Given the description of an element on the screen output the (x, y) to click on. 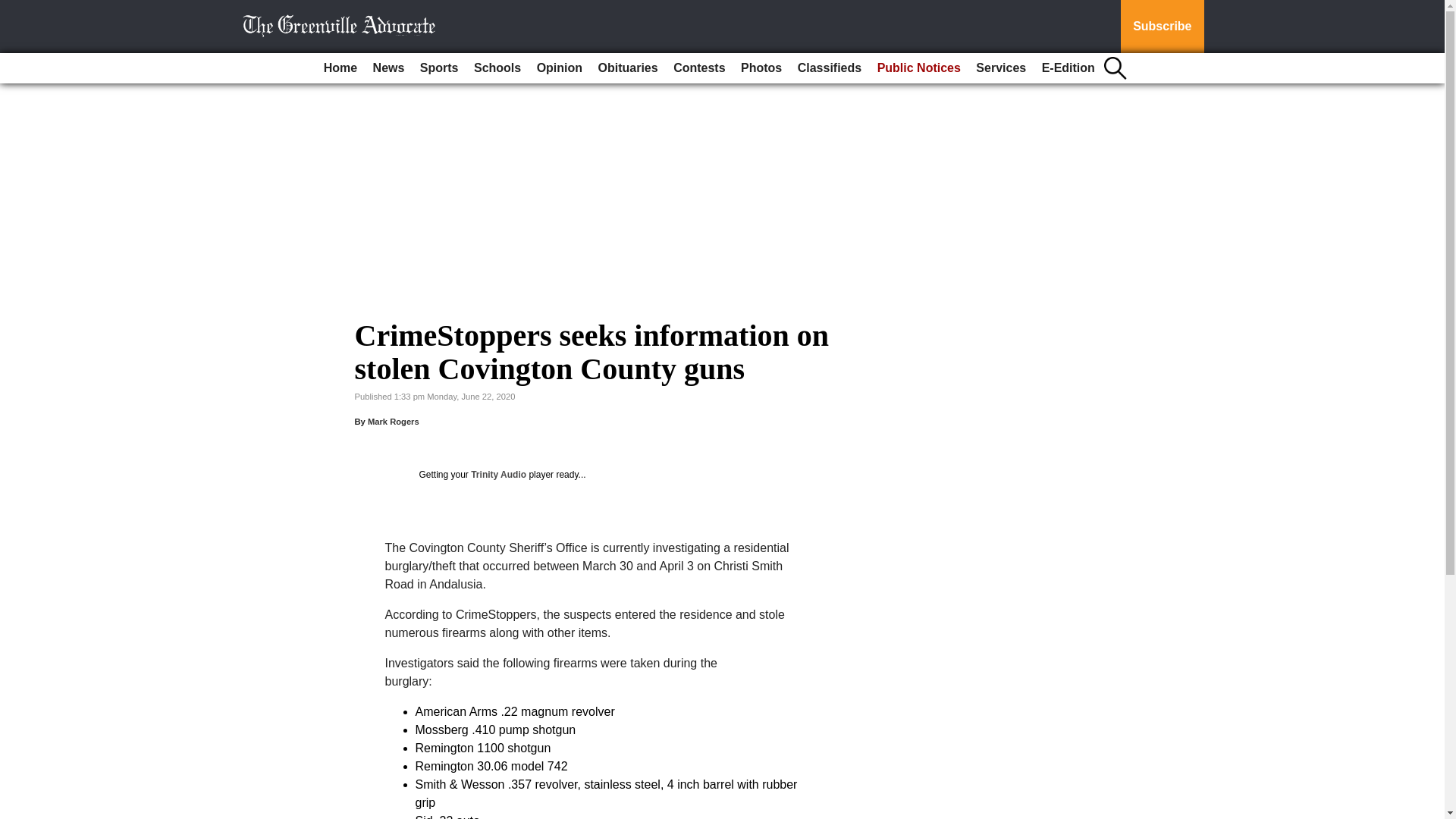
Mark Rogers (393, 420)
Public Notices (918, 68)
Go (13, 9)
Services (1000, 68)
Subscribe (1162, 26)
Classifieds (829, 68)
Schools (497, 68)
Opinion (559, 68)
Trinity Audio (497, 474)
Sports (438, 68)
